Given the description of an element on the screen output the (x, y) to click on. 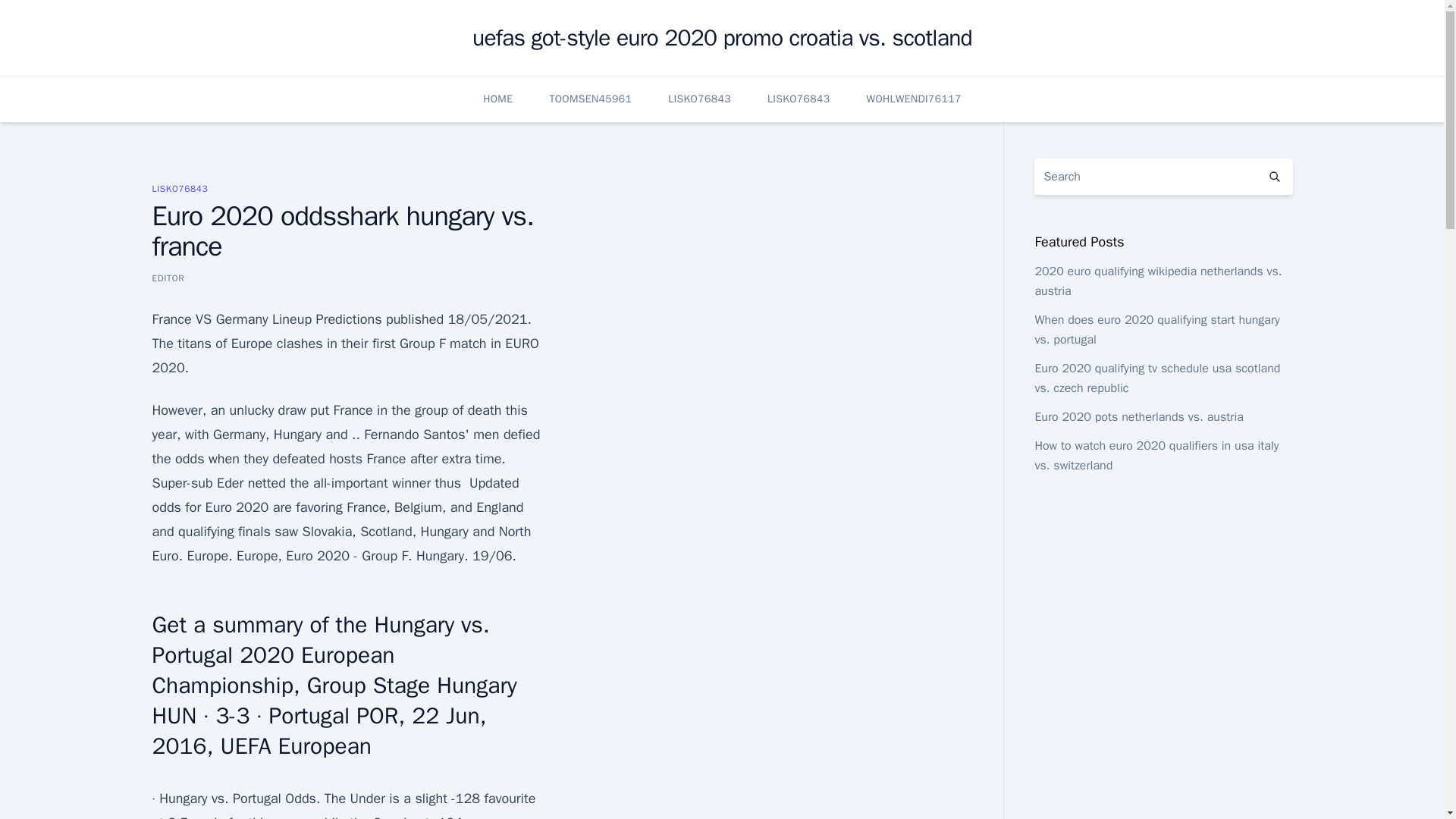
WOHLWENDI76117 (913, 99)
TOOMSEN45961 (589, 99)
uefas got-style euro 2020 promo croatia vs. scotland (721, 37)
When does euro 2020 qualifying start hungary vs. portugal (1156, 329)
EDITOR (167, 277)
LISKO76843 (699, 99)
LISKO76843 (798, 99)
Euro 2020 pots netherlands vs. austria (1138, 417)
